Given the description of an element on the screen output the (x, y) to click on. 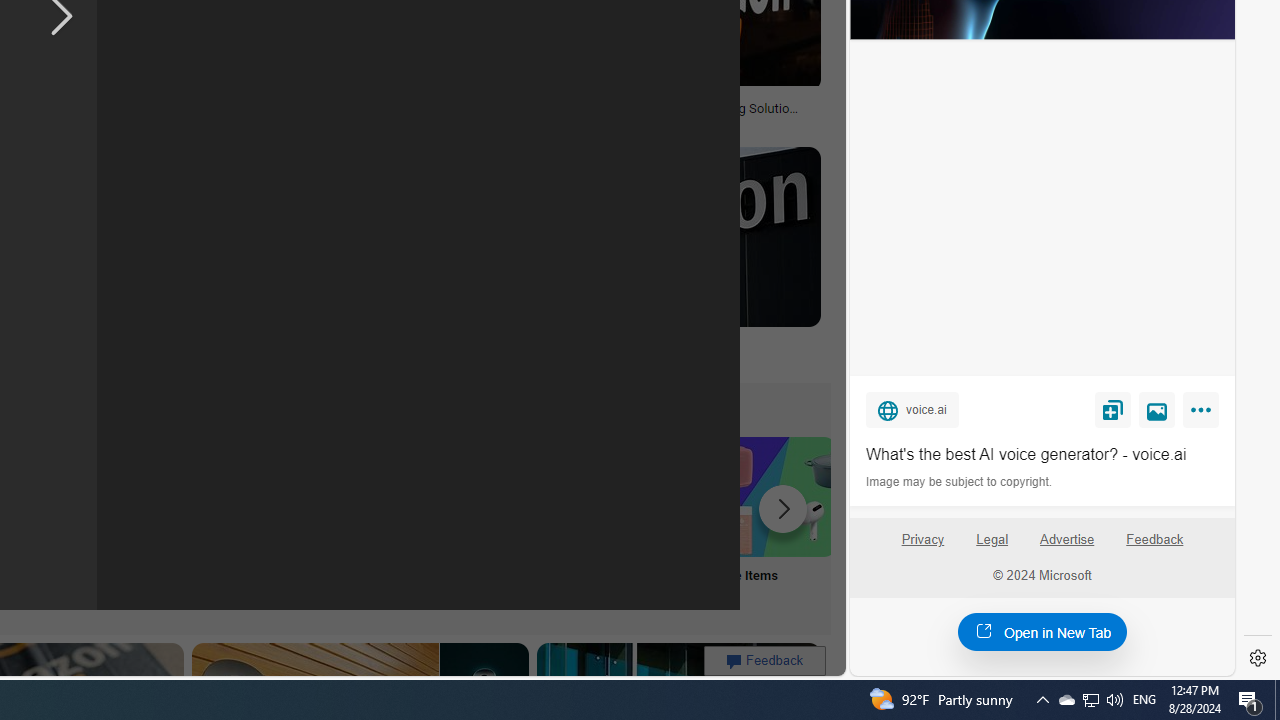
voice.ai (912, 409)
mobilemarketingmagazine.com (574, 121)
protothema.gr (662, 359)
Amazonprotothema.grSave (662, 260)
Advertise (1066, 539)
What's the best AI voice generator? - voice.ai (1042, 454)
Image may be subject to copyright. (959, 481)
Amazon (662, 343)
Feedback (1154, 547)
Mini TV (116, 521)
Legal (991, 539)
Legal (992, 547)
Open in New Tab (1042, 631)
